Given the description of an element on the screen output the (x, y) to click on. 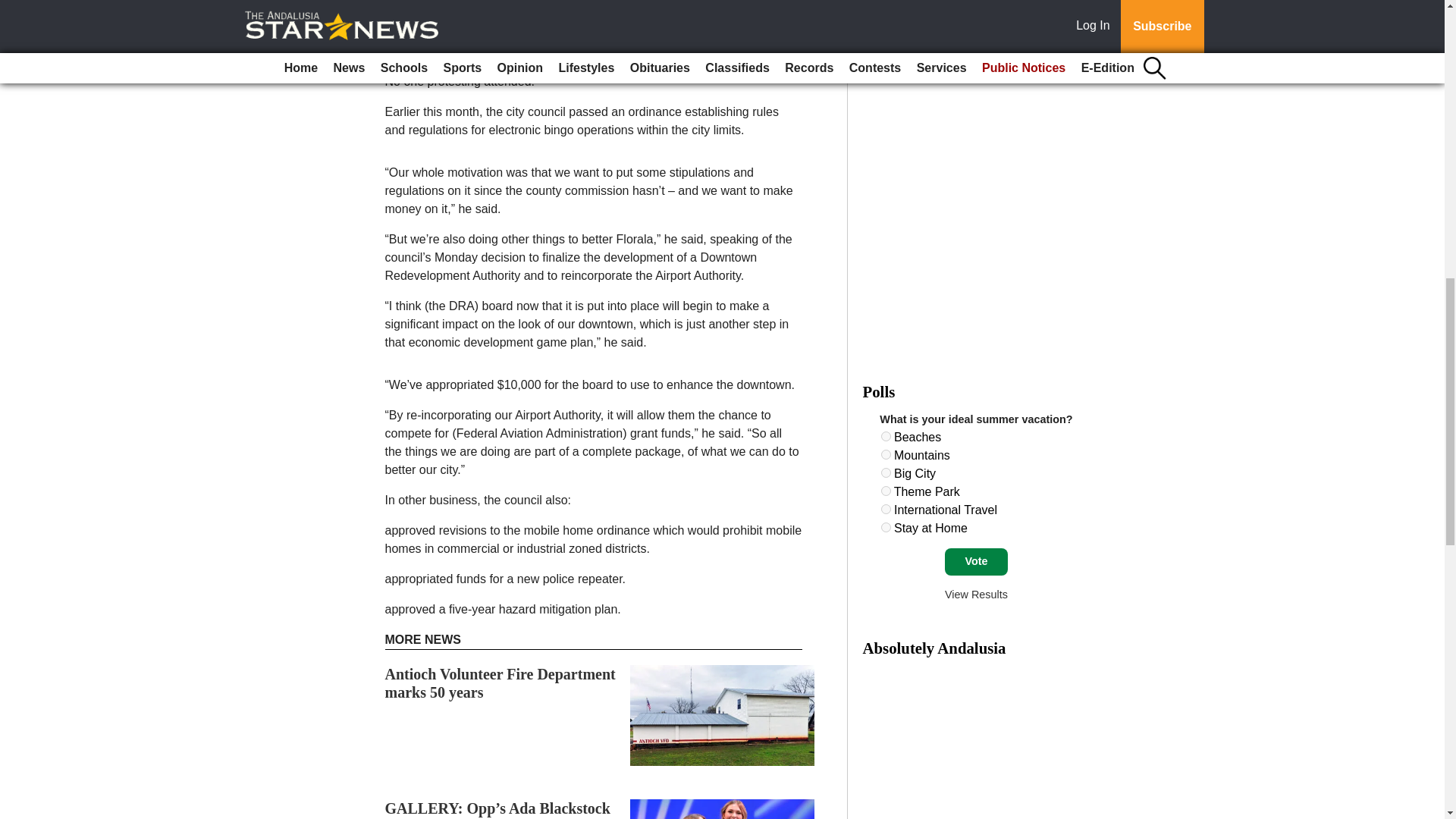
745 (885, 454)
748 (885, 509)
View Results (975, 594)
744 (885, 436)
747 (885, 491)
749 (885, 527)
Antioch Volunteer Fire Department marks 50 years (500, 683)
View Results Of This Poll (975, 594)
Antioch Volunteer Fire Department marks 50 years (500, 683)
746 (885, 472)
   Vote    (975, 561)
